Given the description of an element on the screen output the (x, y) to click on. 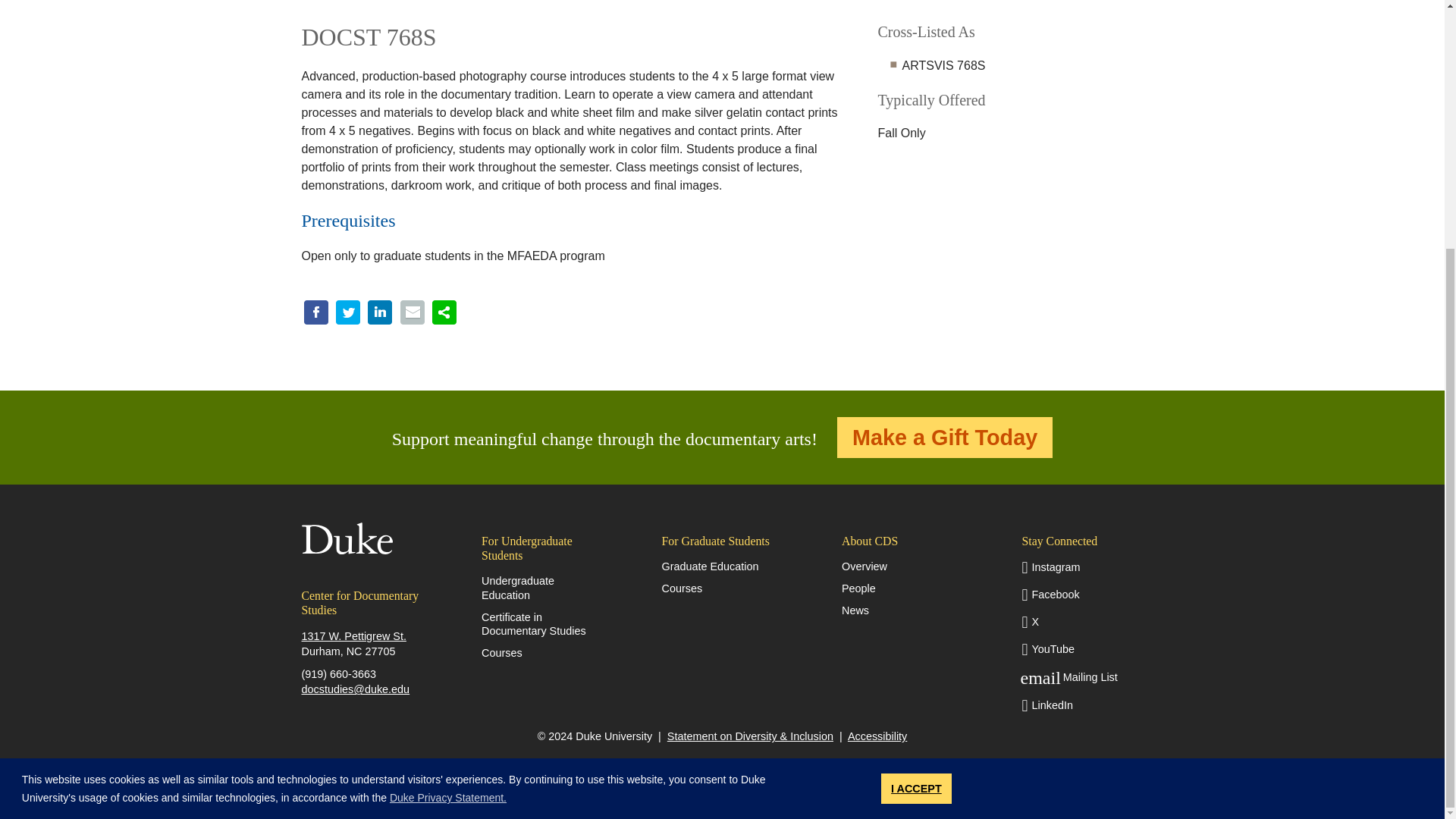
Duke Privacy Statement. (448, 450)
Log in with Shibboleth (722, 772)
I ACCEPT (916, 440)
